Given the description of an element on the screen output the (x, y) to click on. 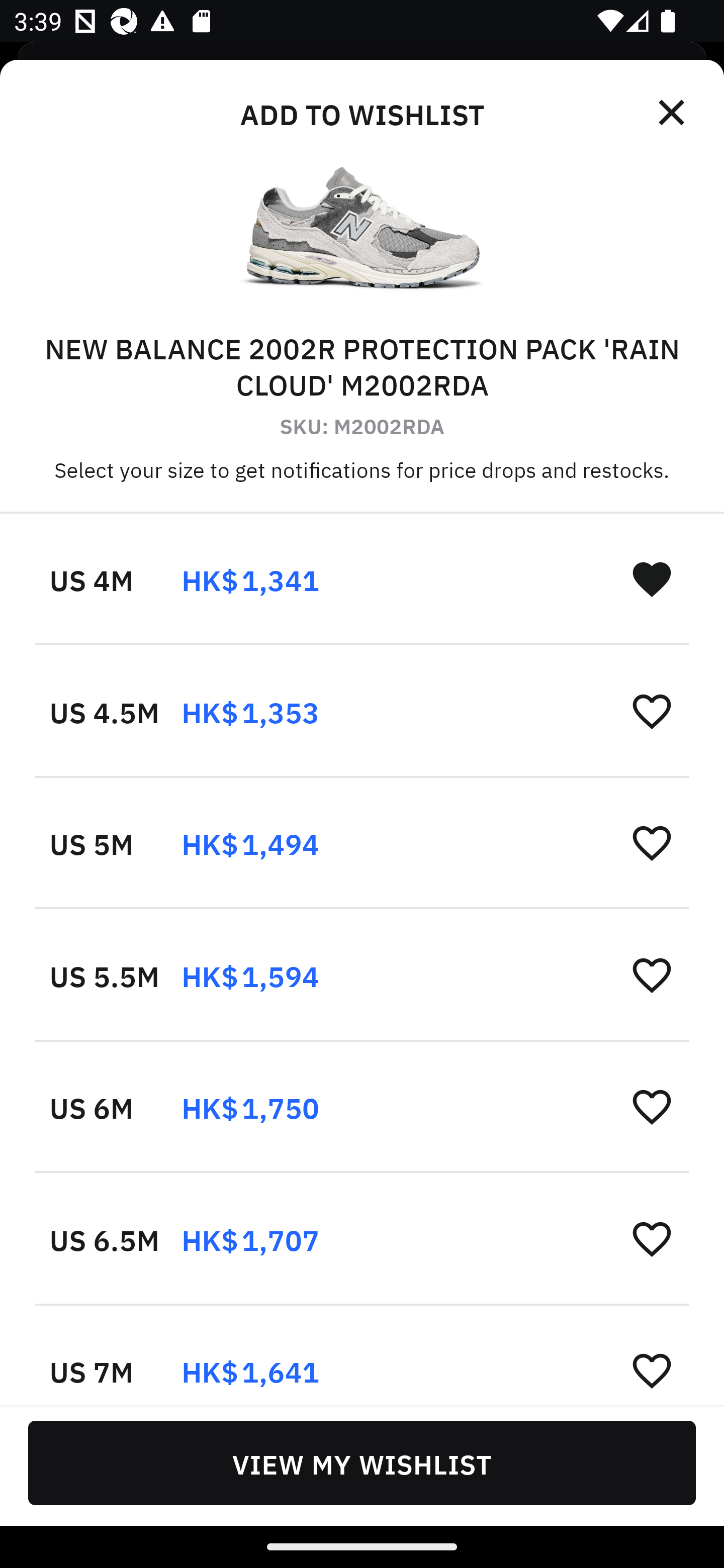
 (672, 112)
󰋑 (651, 578)
󰋕 (651, 710)
󰋕 (651, 842)
󰋕 (651, 974)
󰋕 (651, 1105)
󰋕 (651, 1237)
󰋕 (651, 1369)
VIEW MY WISHLIST (361, 1462)
